Given the description of an element on the screen output the (x, y) to click on. 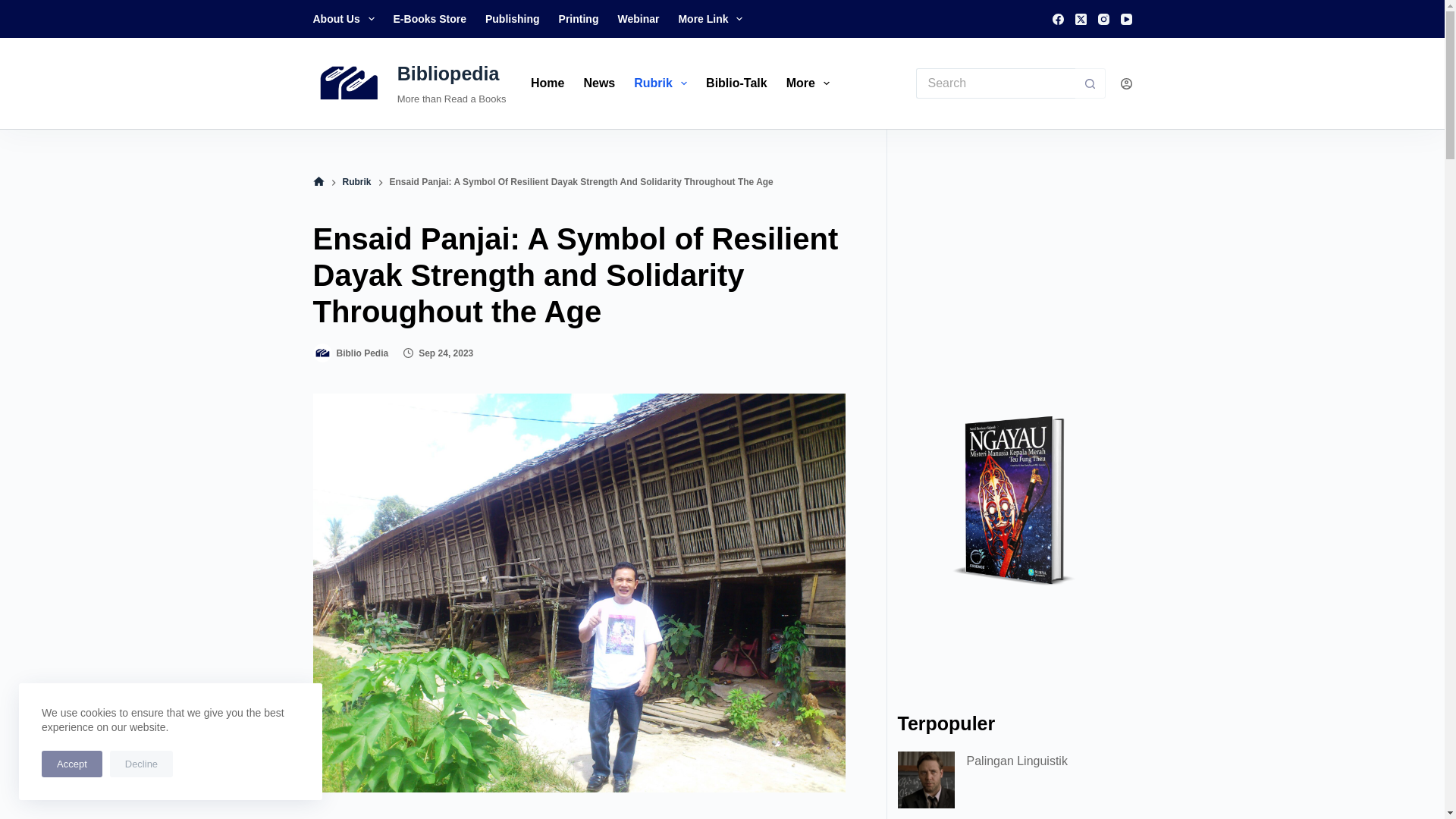
Posts by Biblio Pedia (362, 353)
E-Books Store (430, 18)
Advertisement (1015, 269)
Search for... (995, 82)
Decline (141, 764)
Webinar (638, 18)
Publishing (512, 18)
Accept (71, 764)
Printing (578, 18)
More Link (710, 18)
Skip to content (15, 7)
About Us (348, 18)
